Given the description of an element on the screen output the (x, y) to click on. 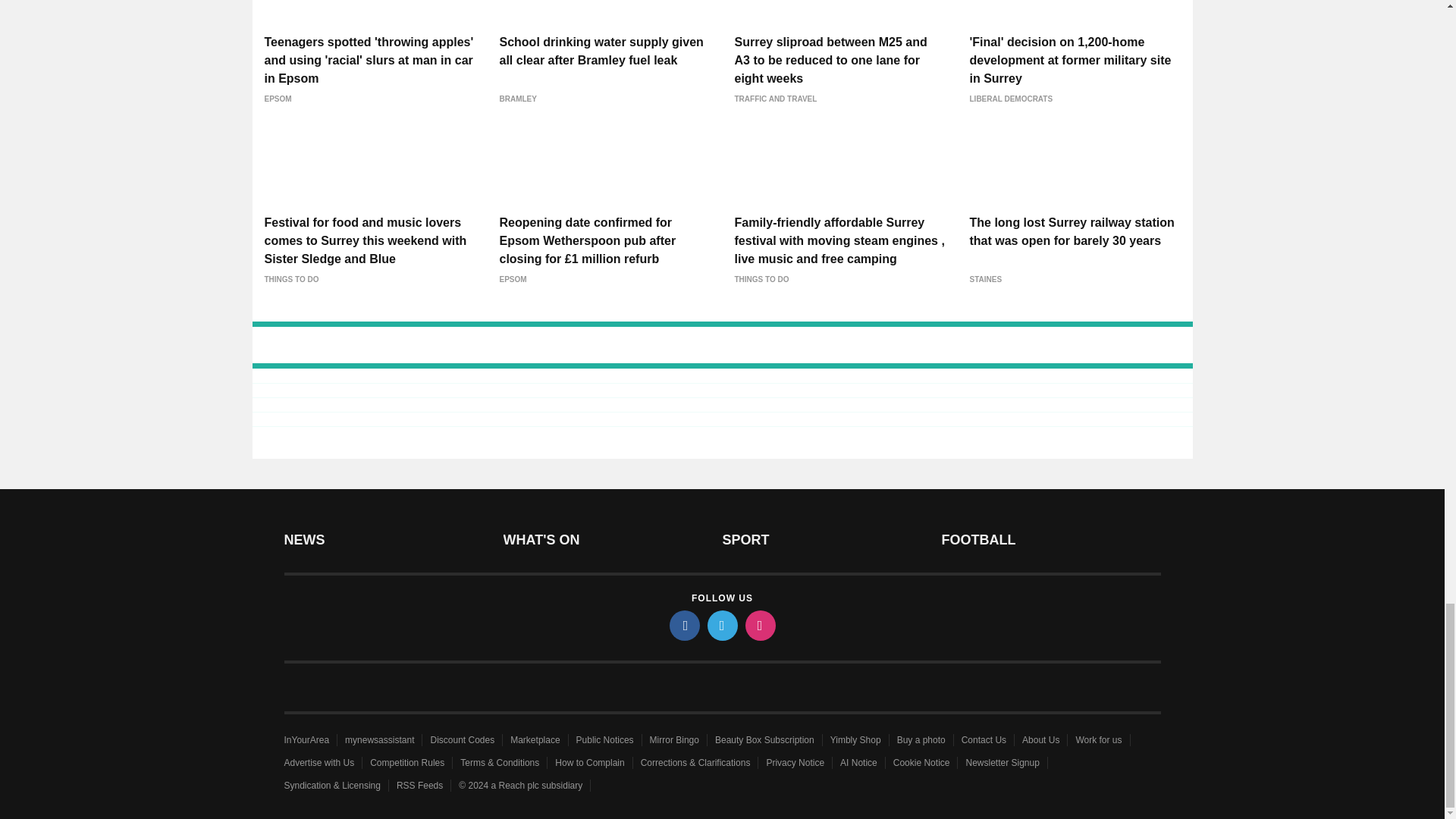
facebook (683, 625)
instagram (759, 625)
twitter (721, 625)
